Given the description of an element on the screen output the (x, y) to click on. 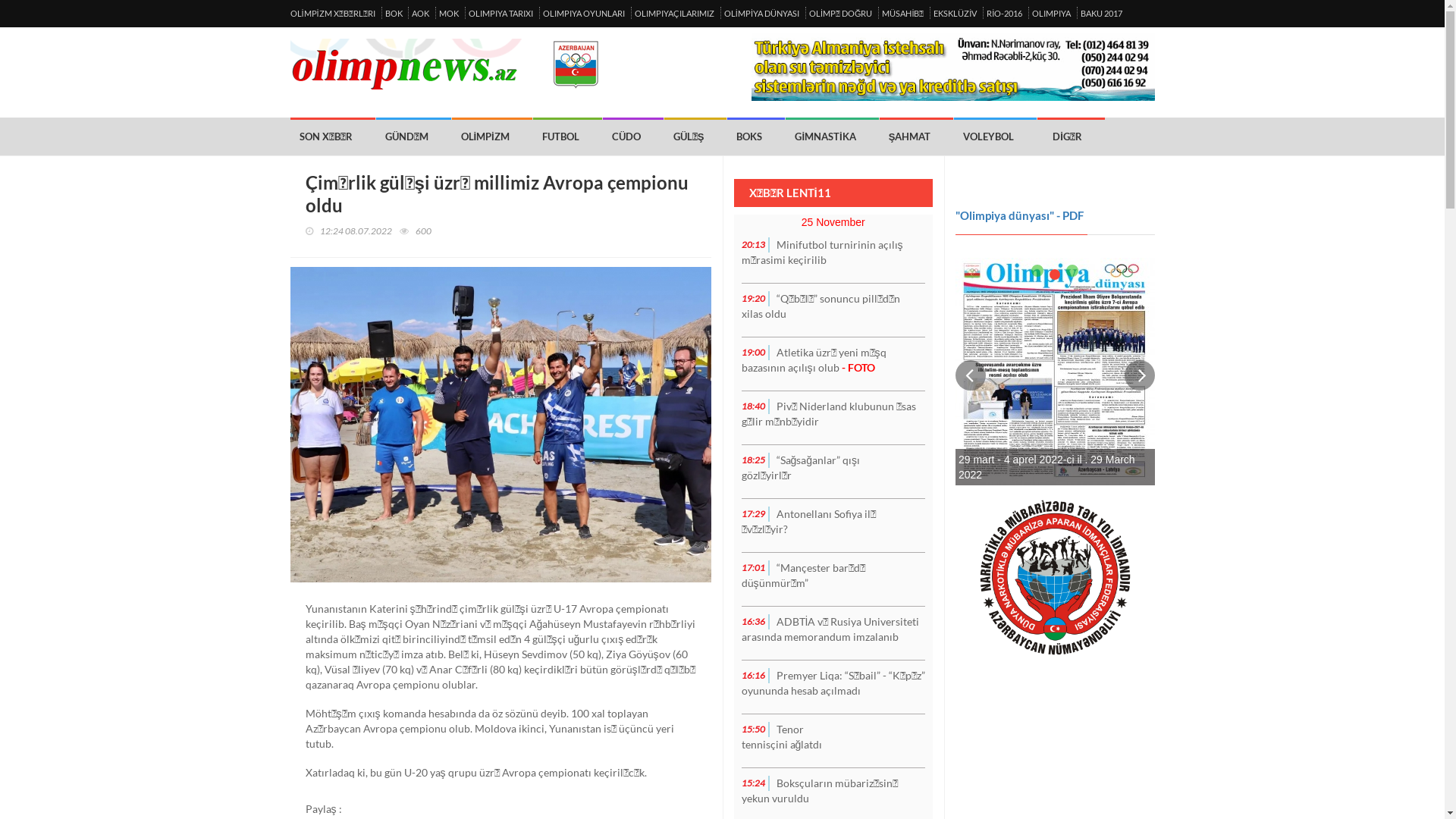
2 Element type: text (1054, 273)
Prev Element type: text (970, 374)
OLIMPIYA Element type: text (1051, 13)
MOK Element type: text (448, 13)
BOKS Element type: text (755, 136)
AOK Element type: text (420, 13)
OLIMPIYA TARIXI Element type: text (500, 13)
BOK Element type: text (393, 13)
OLIMPIYA OYUNLARI Element type: text (583, 13)
1 Element type: text (1037, 269)
VOLEYBOL Element type: text (994, 136)
BAKU 2017 Element type: text (1101, 13)
3 Element type: text (1072, 269)
FUTBOL Element type: text (567, 136)
Next Element type: text (1138, 374)
